Given the description of an element on the screen output the (x, y) to click on. 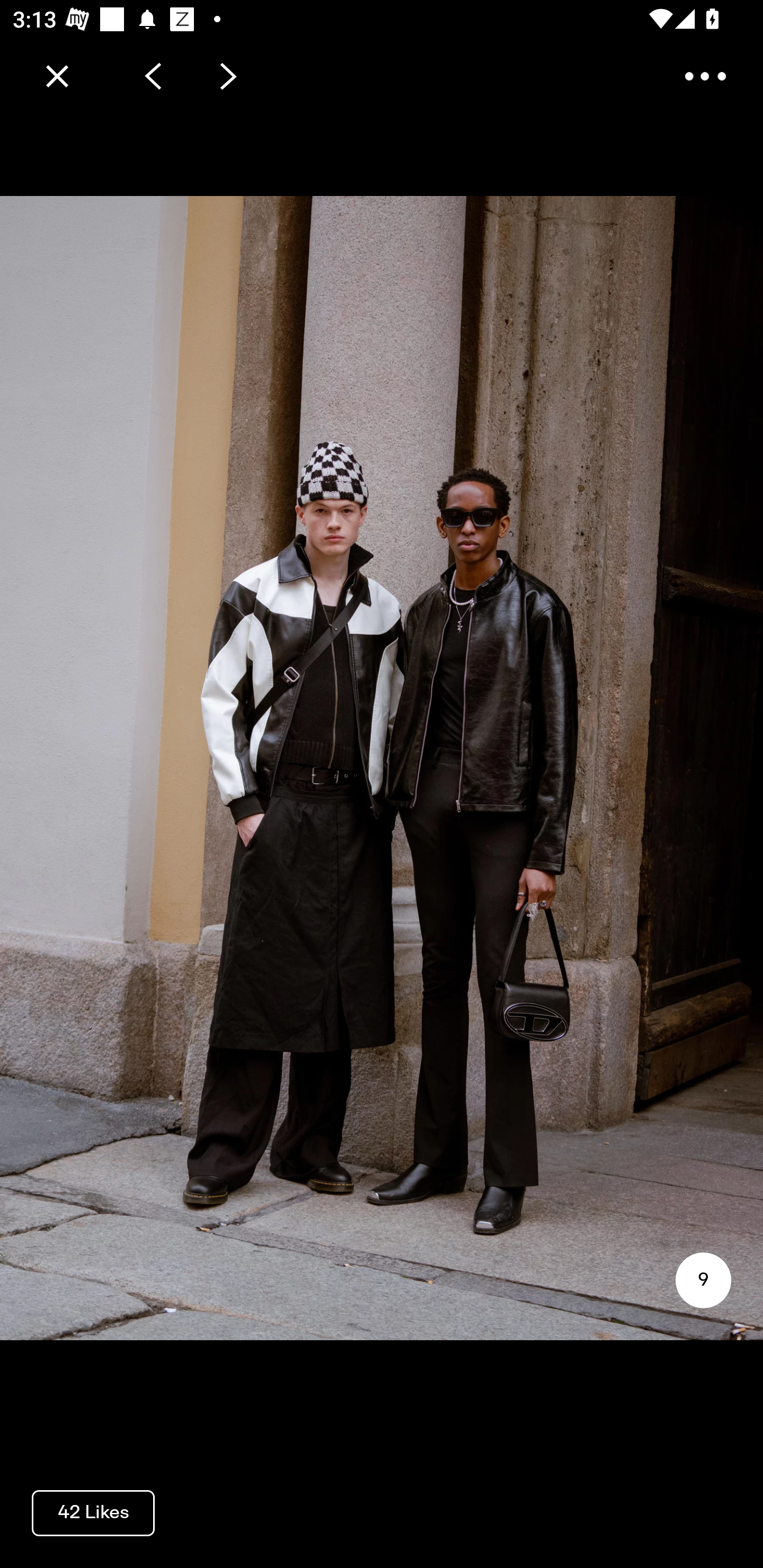
9 (702, 1279)
42 Likes (93, 1512)
